Given the description of an element on the screen output the (x, y) to click on. 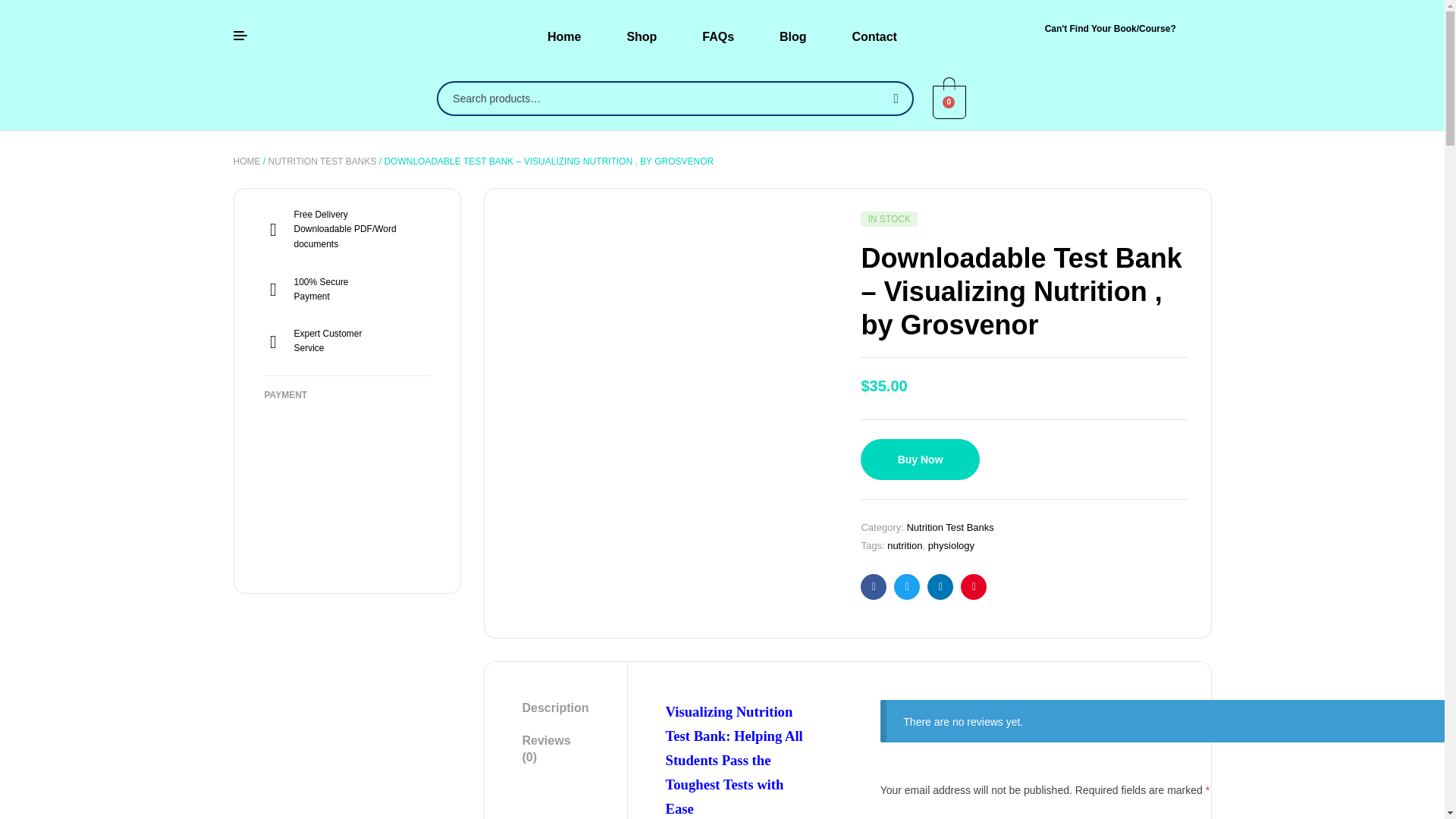
Share on LinkedIn (940, 586)
0 (949, 100)
Shop (641, 36)
Share on Twitter (906, 586)
FAQs (718, 36)
Search (893, 98)
Cart (948, 101)
Contact (873, 36)
Home (563, 36)
Share on Pinterest (973, 586)
View your shopping cart (949, 100)
Blog (793, 36)
Share on facebook (873, 586)
